Given the description of an element on the screen output the (x, y) to click on. 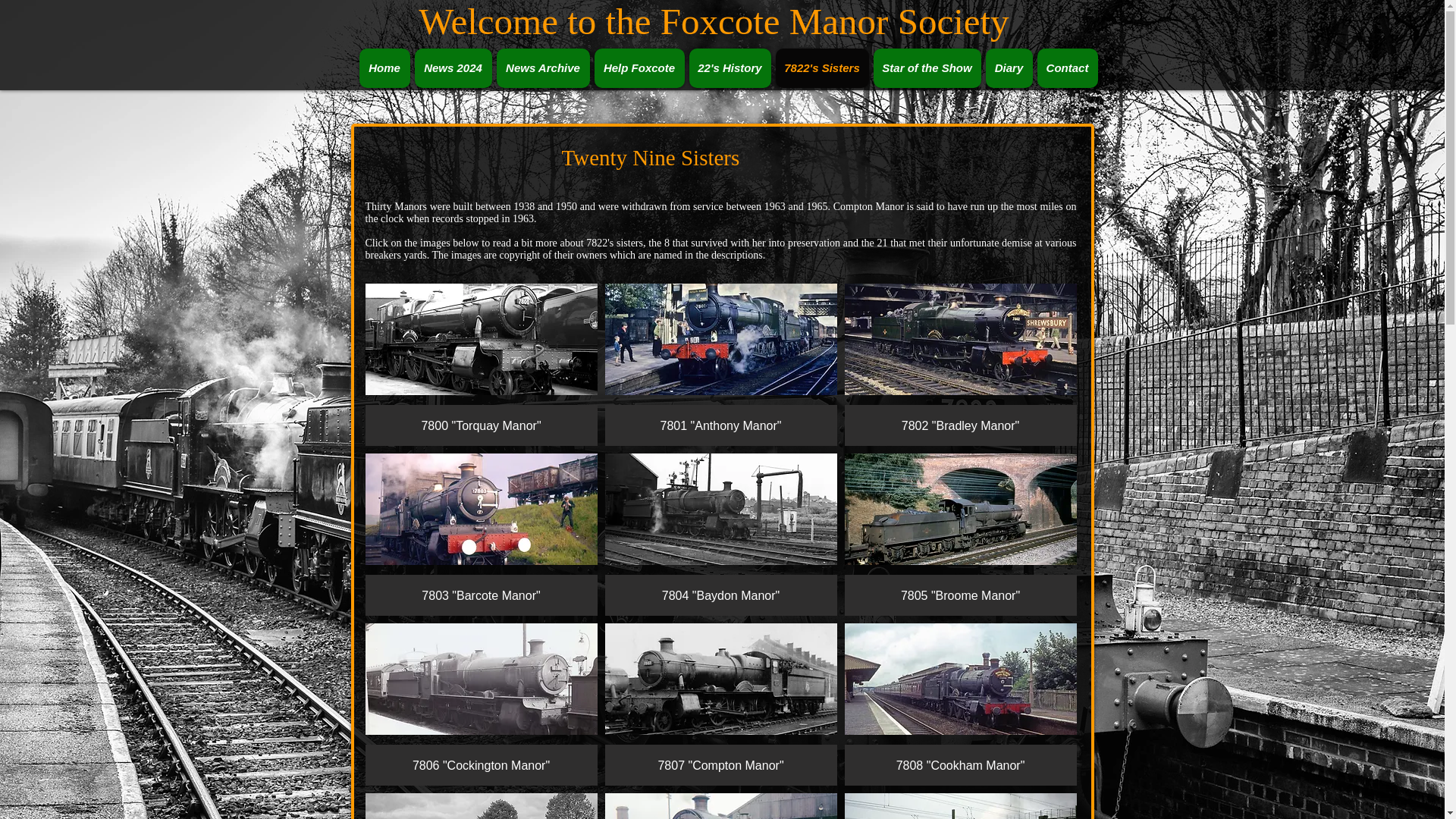
Help Foxcote (639, 67)
News Archive (542, 67)
Star of the Show (927, 67)
News 2024 (452, 67)
Contact (1066, 67)
Home (384, 67)
22's History (729, 67)
Diary (1008, 67)
7822's Sisters (820, 67)
